Given the description of an element on the screen output the (x, y) to click on. 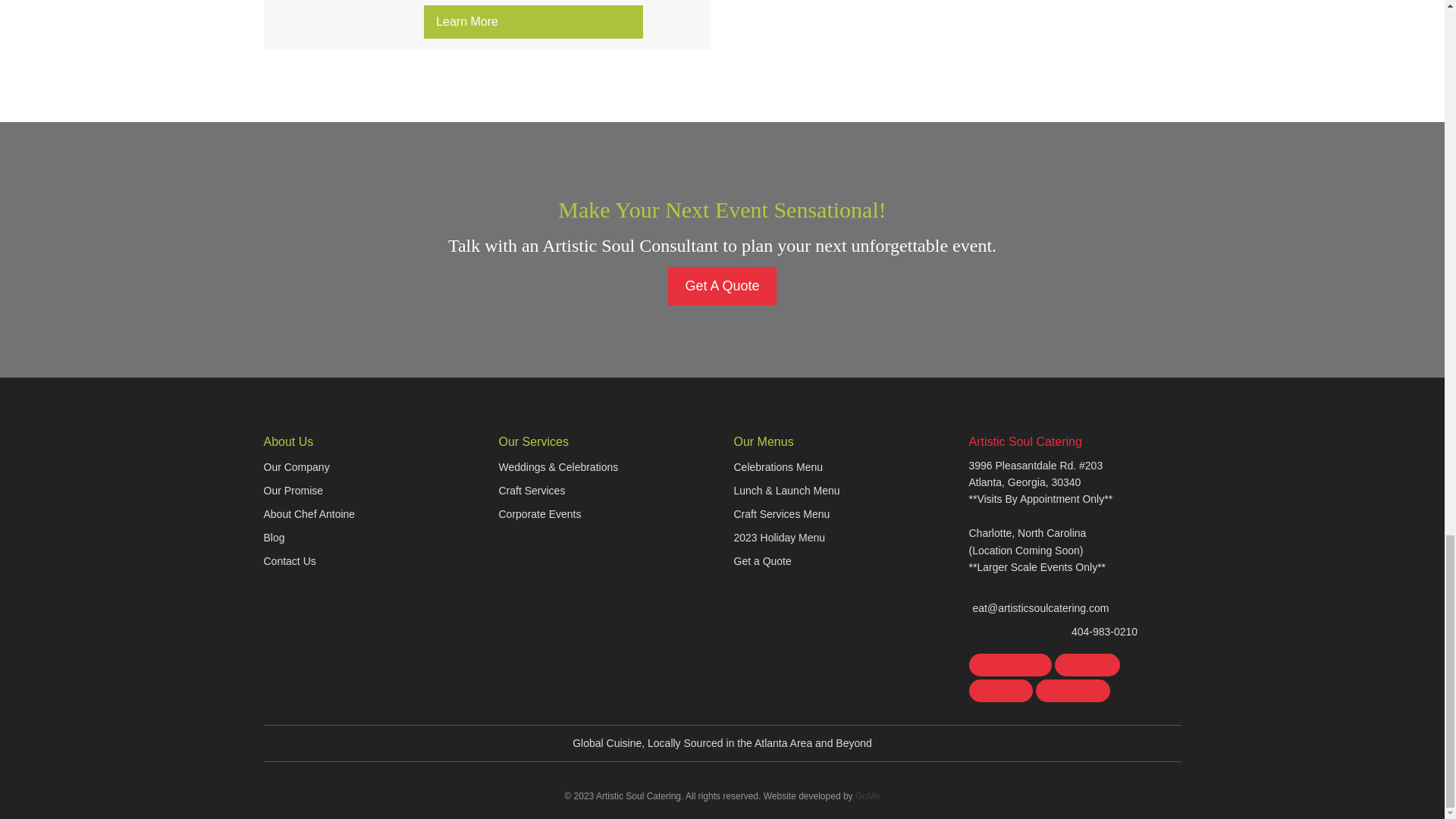
Get a Quote (762, 560)
2023 Holiday Menu (779, 537)
Contact Us (289, 560)
Learn More (533, 21)
About Chef Antoine (309, 514)
Craft Services (532, 490)
Corporate Events (539, 514)
Blog (274, 537)
Celebrations Menu (778, 466)
Our Company (296, 466)
Get A Quote (722, 285)
404-983-0210 (1053, 631)
Craft Services Menu (781, 514)
Our Promise (293, 490)
